Given the description of an element on the screen output the (x, y) to click on. 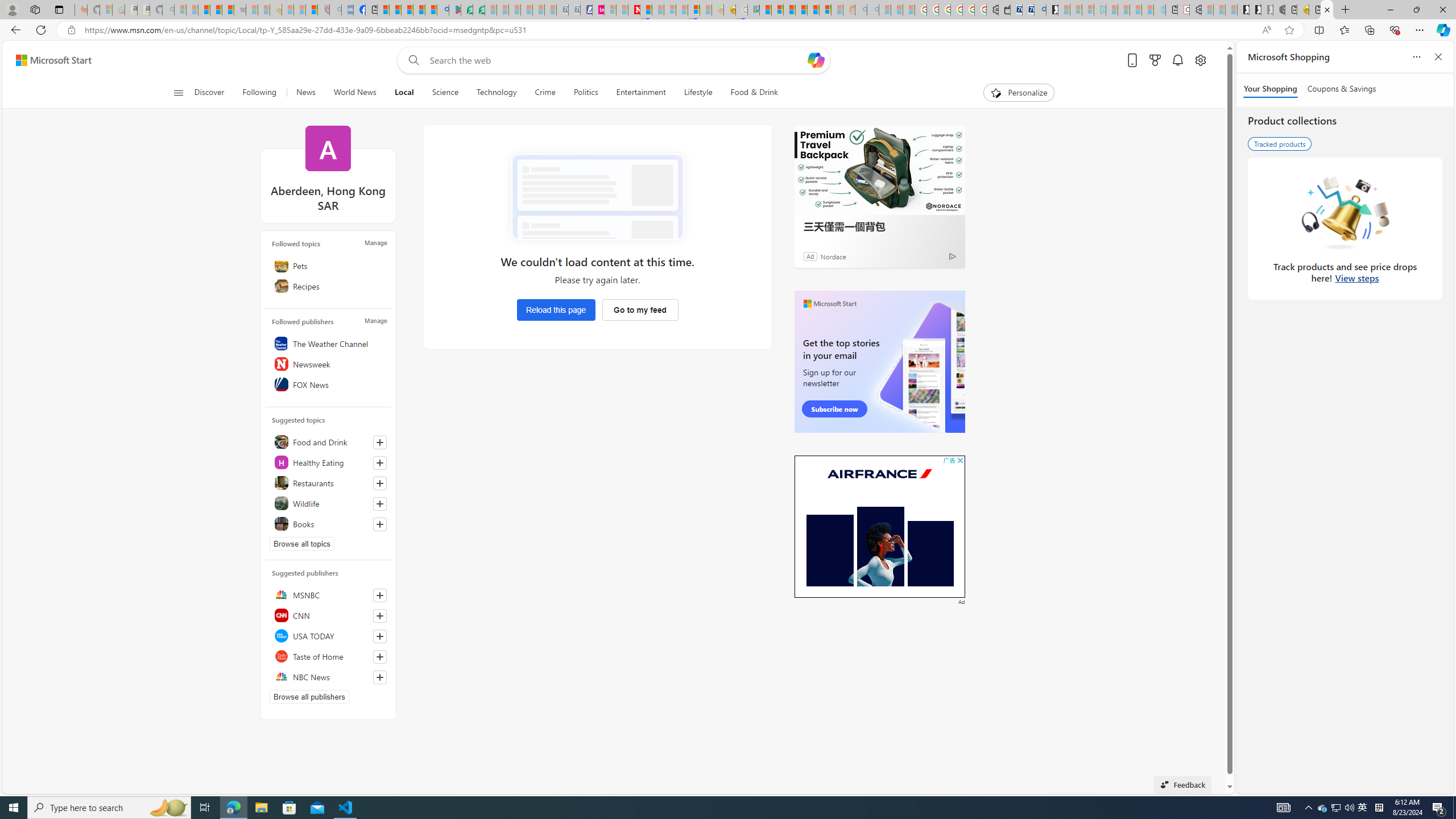
World News (354, 92)
Combat Siege (239, 9)
Pets (327, 265)
MSNBC (327, 594)
Follow this source (379, 677)
Nordace - Nordace Siena Is Not An Ordinary Backpack (1279, 9)
Web search (411, 60)
FOX News (327, 384)
Recipes - MSN - Sleeping (287, 9)
Microsoft Start Gaming (1051, 9)
